Given the description of an element on the screen output the (x, y) to click on. 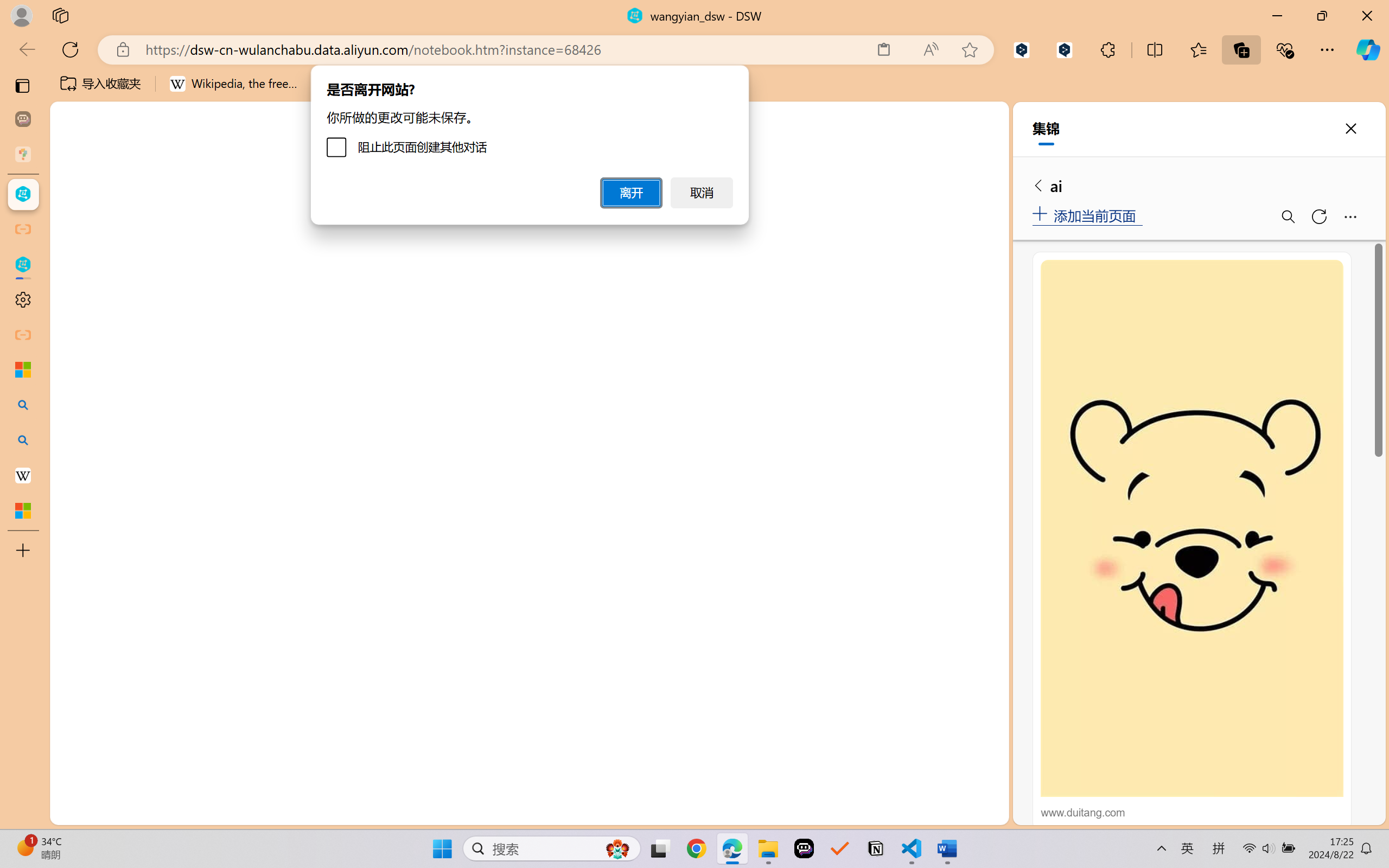
Extensions (Ctrl+Shift+X) (73, 422)
Accounts - Sign in requested (73, 732)
Explorer actions (211, 194)
Terminal 2 bash (949, 243)
Toggle Primary Side Bar (Ctrl+B) (919, 159)
Source Control (Ctrl+Shift+G) (73, 328)
